Given the description of an element on the screen output the (x, y) to click on. 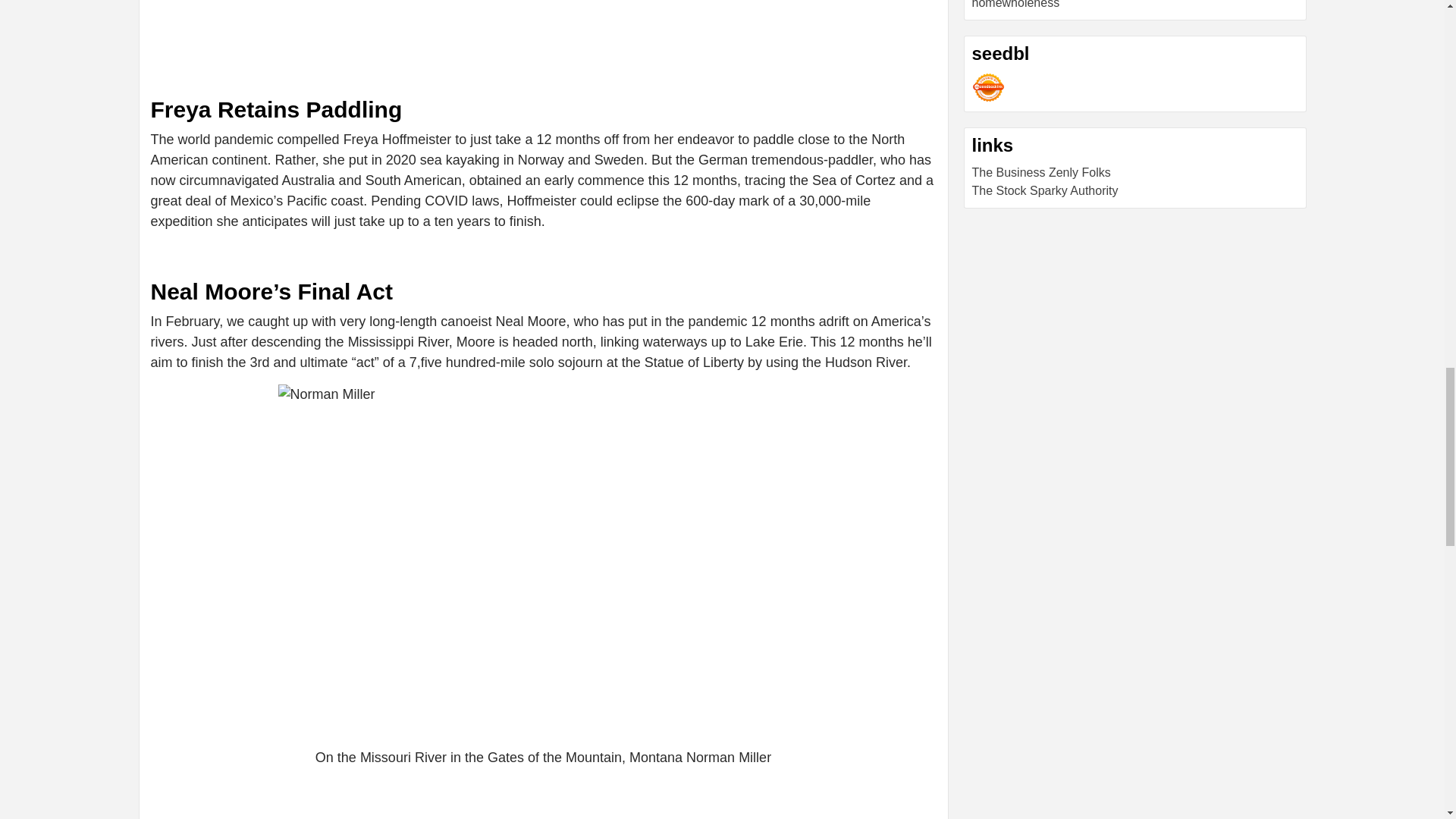
YouTube video player (362, 38)
